Given the description of an element on the screen output the (x, y) to click on. 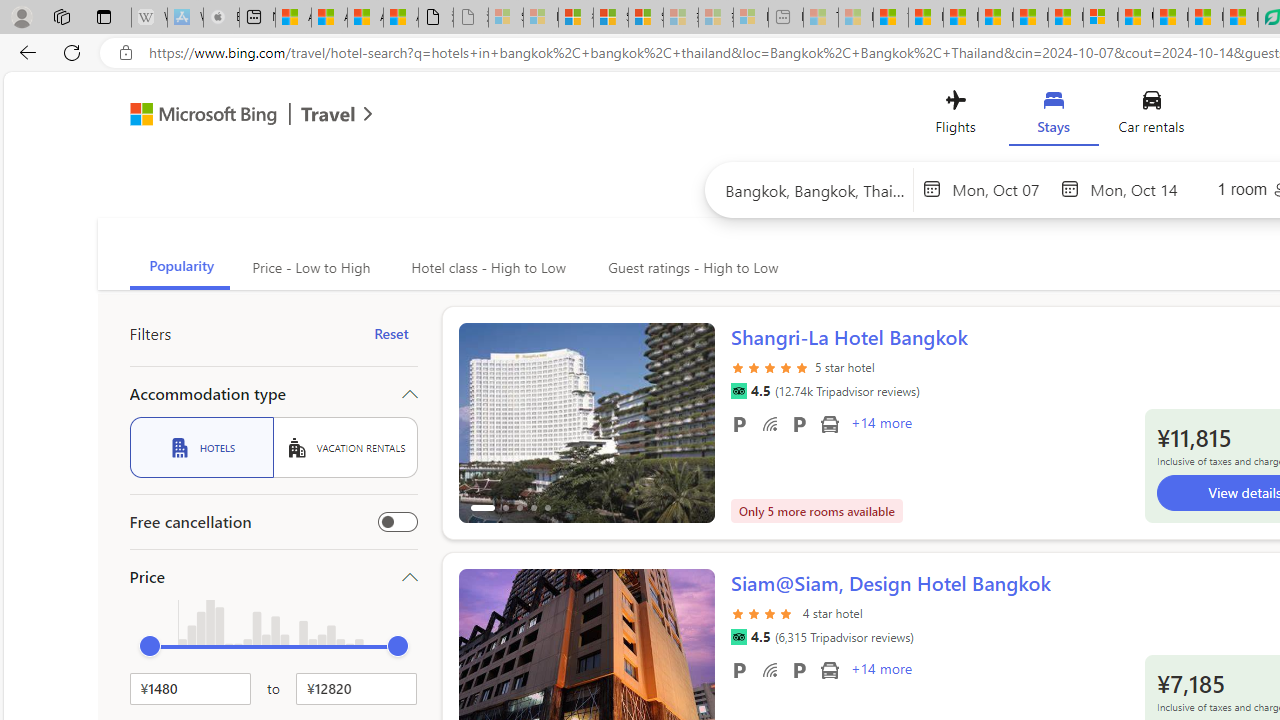
Class: msft-bing-logo msft-bing-logo-desktop (198, 114)
Tripadvisor (738, 637)
Foo BAR | Trusted Community Engagement and Contributions (1065, 17)
Guest ratings - High to Low (690, 268)
Hotel class - High to Low (485, 268)
Microsoft Bing Travel (229, 116)
Flights (955, 116)
Reset (391, 333)
star rating (763, 612)
Price - Low to High (309, 268)
